Given the description of an element on the screen output the (x, y) to click on. 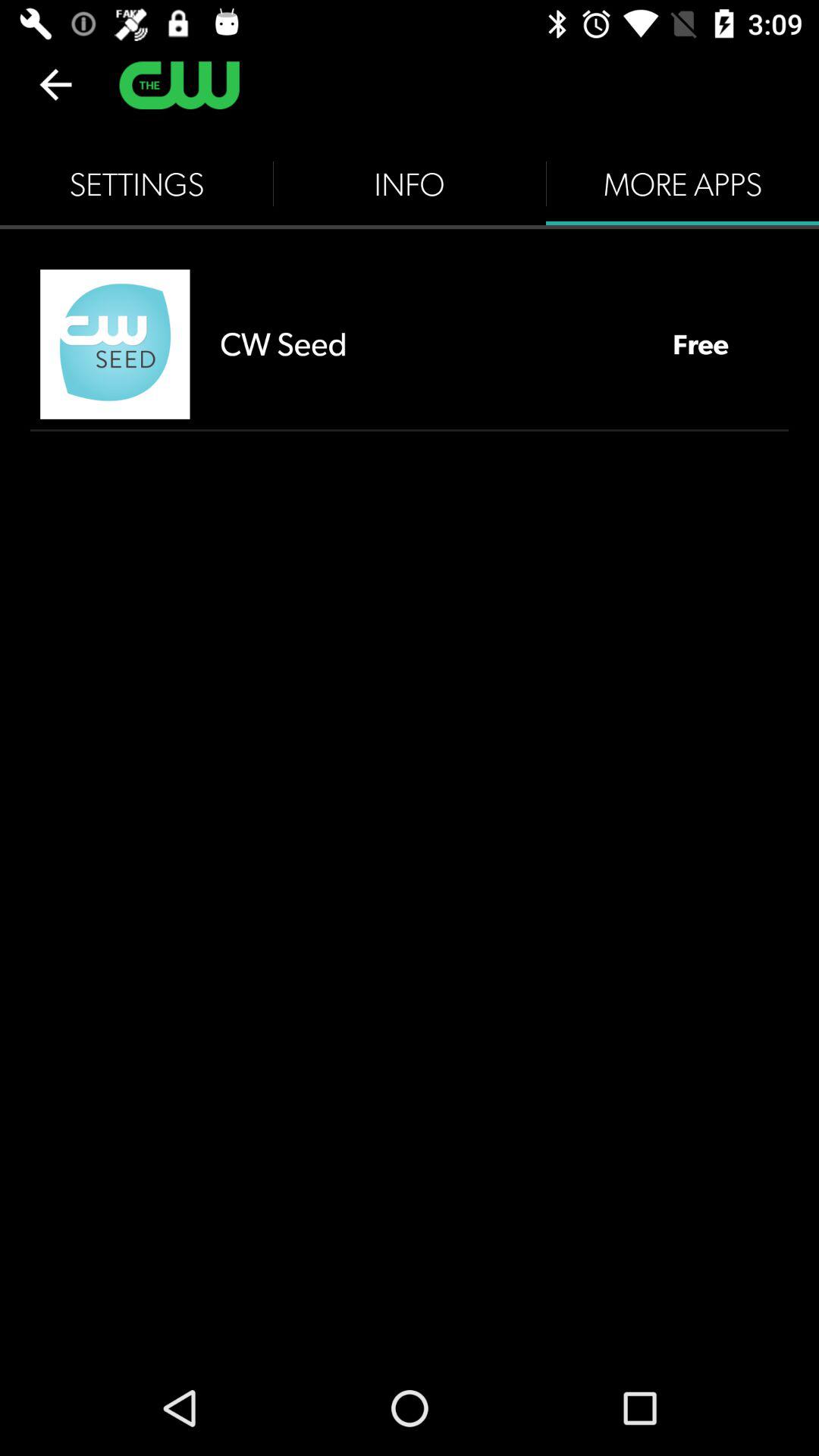
select the icon above settings icon (55, 84)
